Given the description of an element on the screen output the (x, y) to click on. 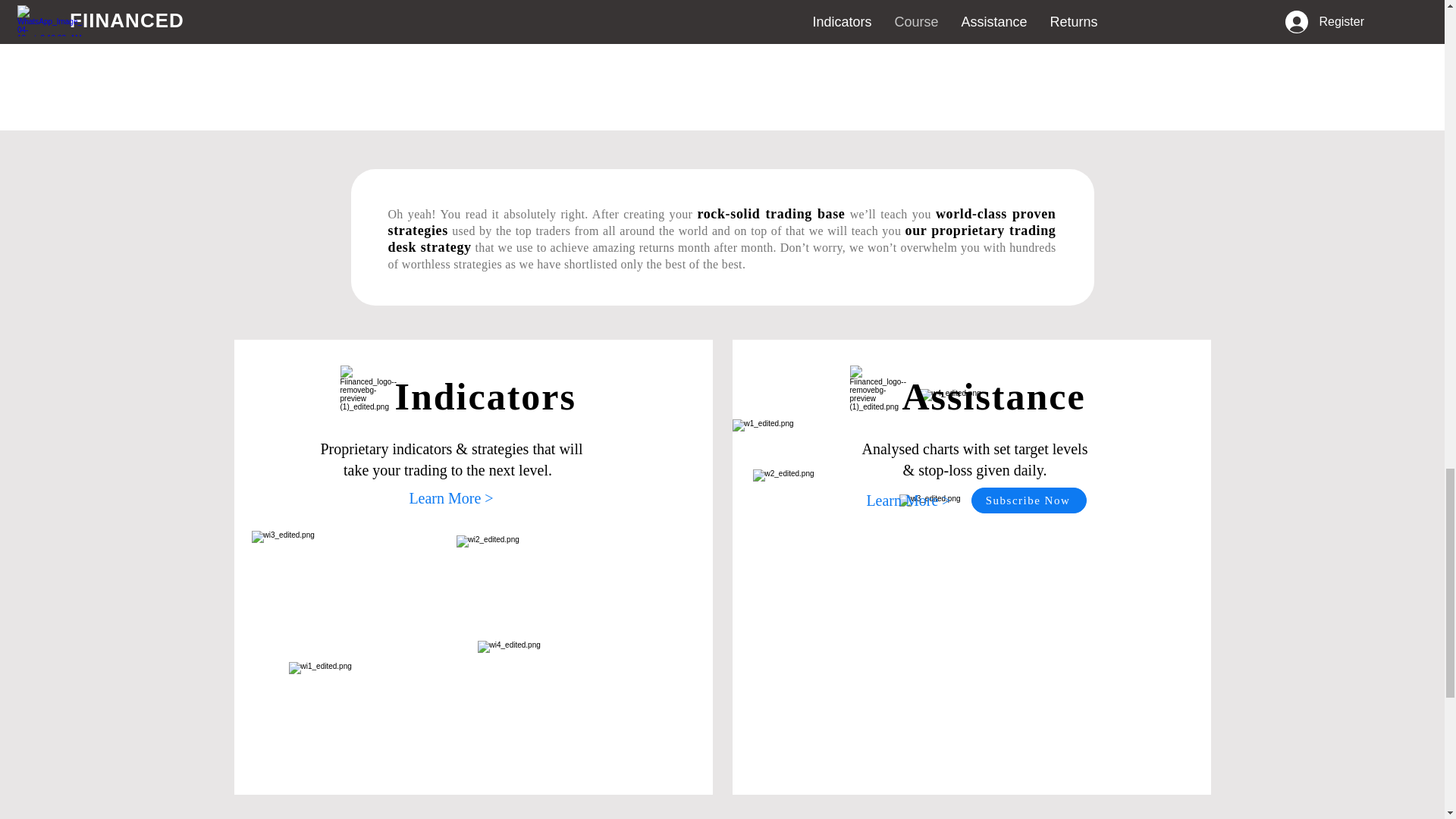
Subscribe Now (1028, 500)
